Given the description of an element on the screen output the (x, y) to click on. 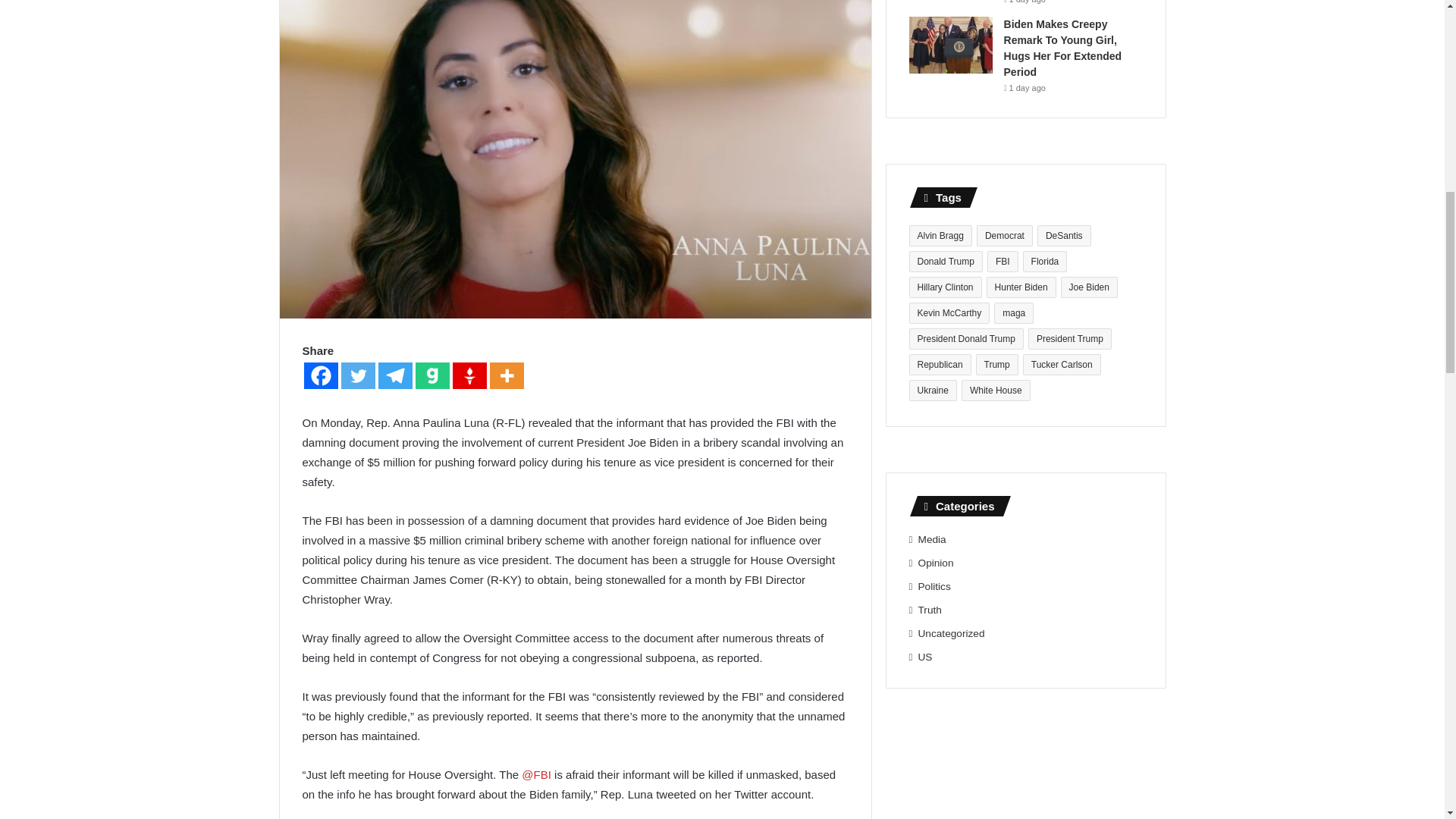
More (506, 375)
Facebook (319, 375)
Gettr (468, 375)
Gab (431, 375)
Telegram (394, 375)
Twitter (357, 375)
